Given the description of an element on the screen output the (x, y) to click on. 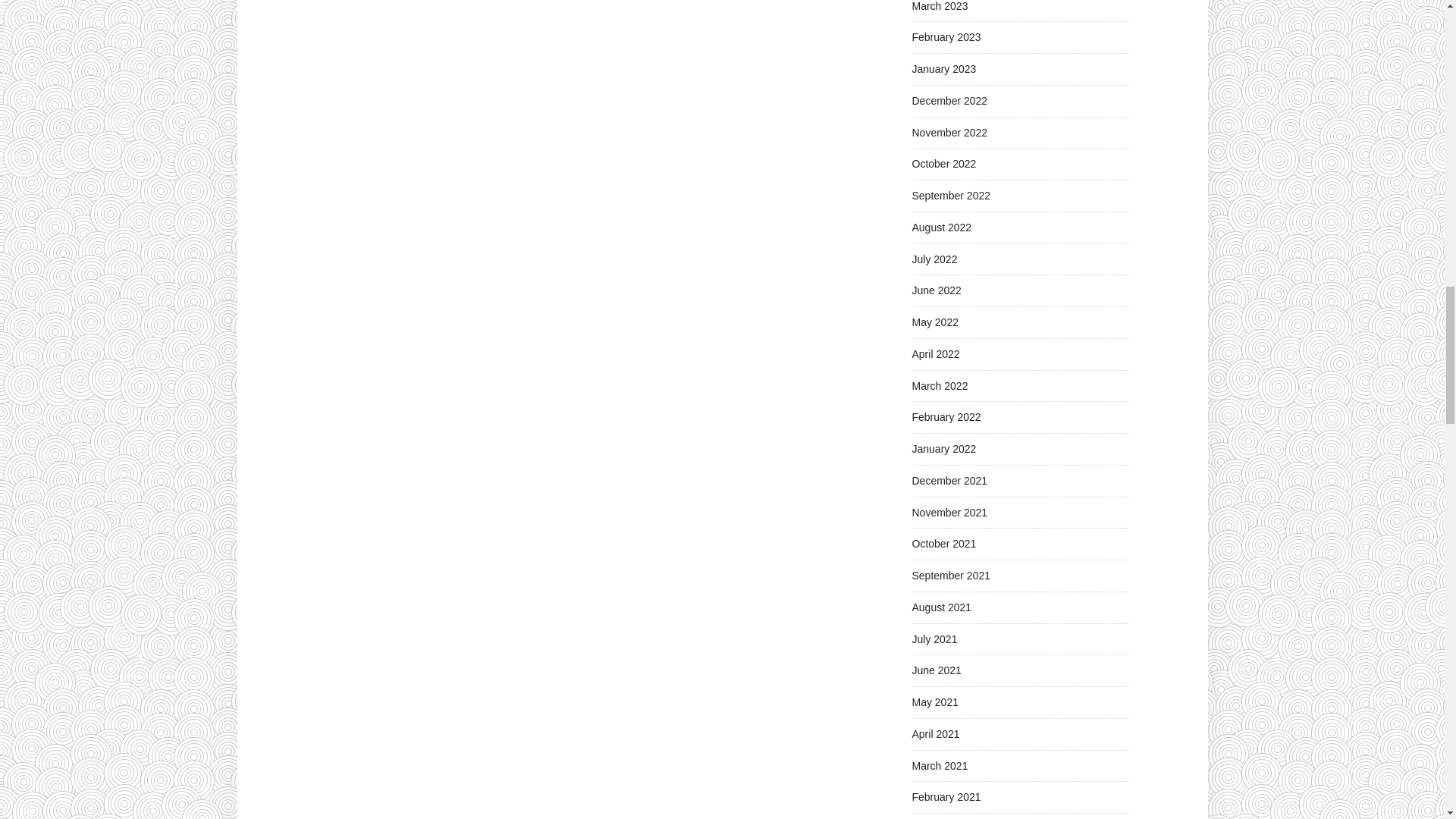
December 2022 (949, 101)
March 2023 (939, 6)
November 2022 (949, 132)
February 2023 (945, 37)
September 2022 (950, 195)
January 2023 (943, 69)
October 2022 (943, 163)
